Given the description of an element on the screen output the (x, y) to click on. 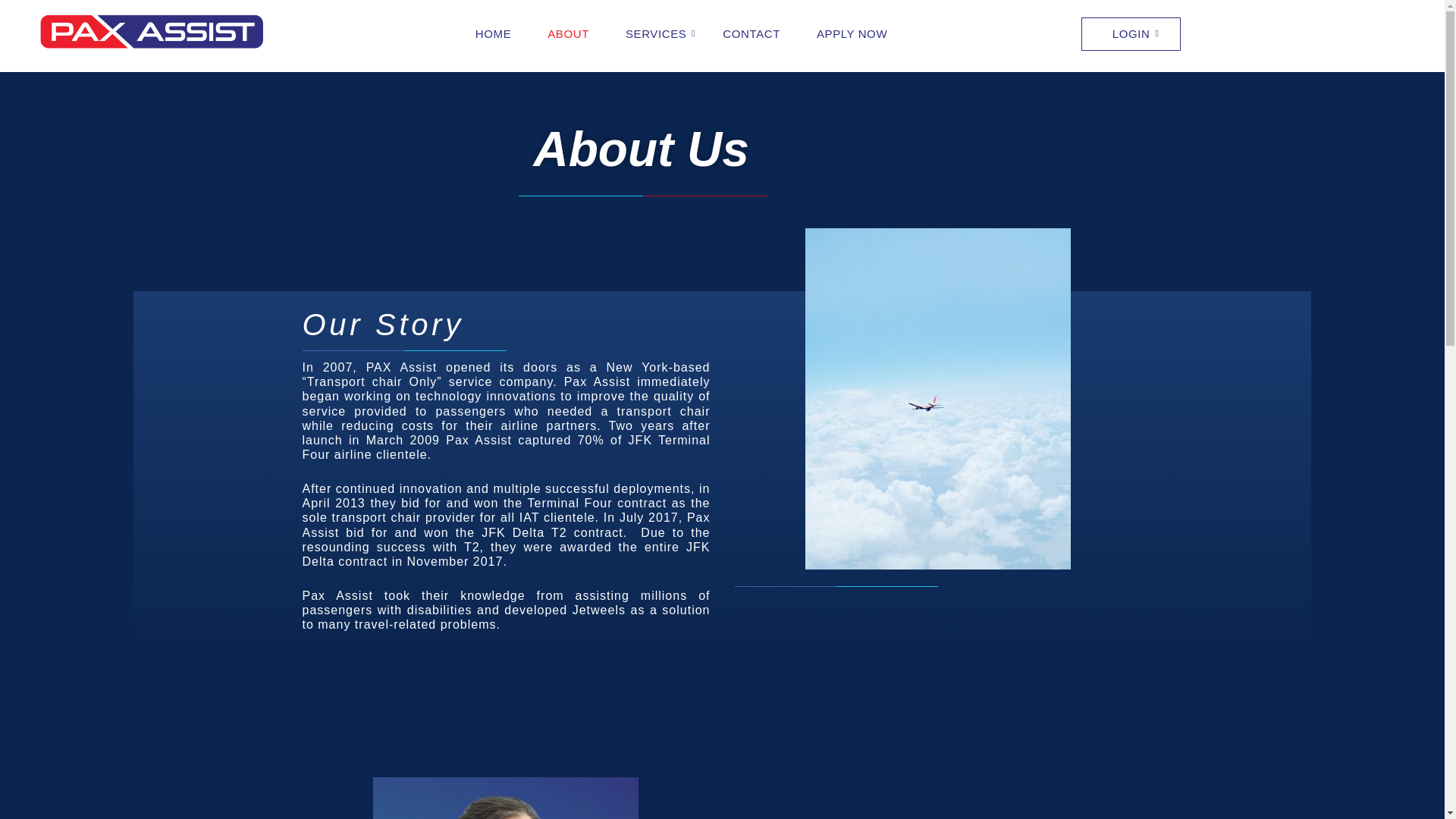
LOGIN (1130, 33)
APPLY NOW (852, 34)
ABOUT (568, 34)
3rWagdKBF7U (505, 798)
HOME (492, 34)
CONTACT (751, 34)
SERVICES (655, 34)
